Given the description of an element on the screen output the (x, y) to click on. 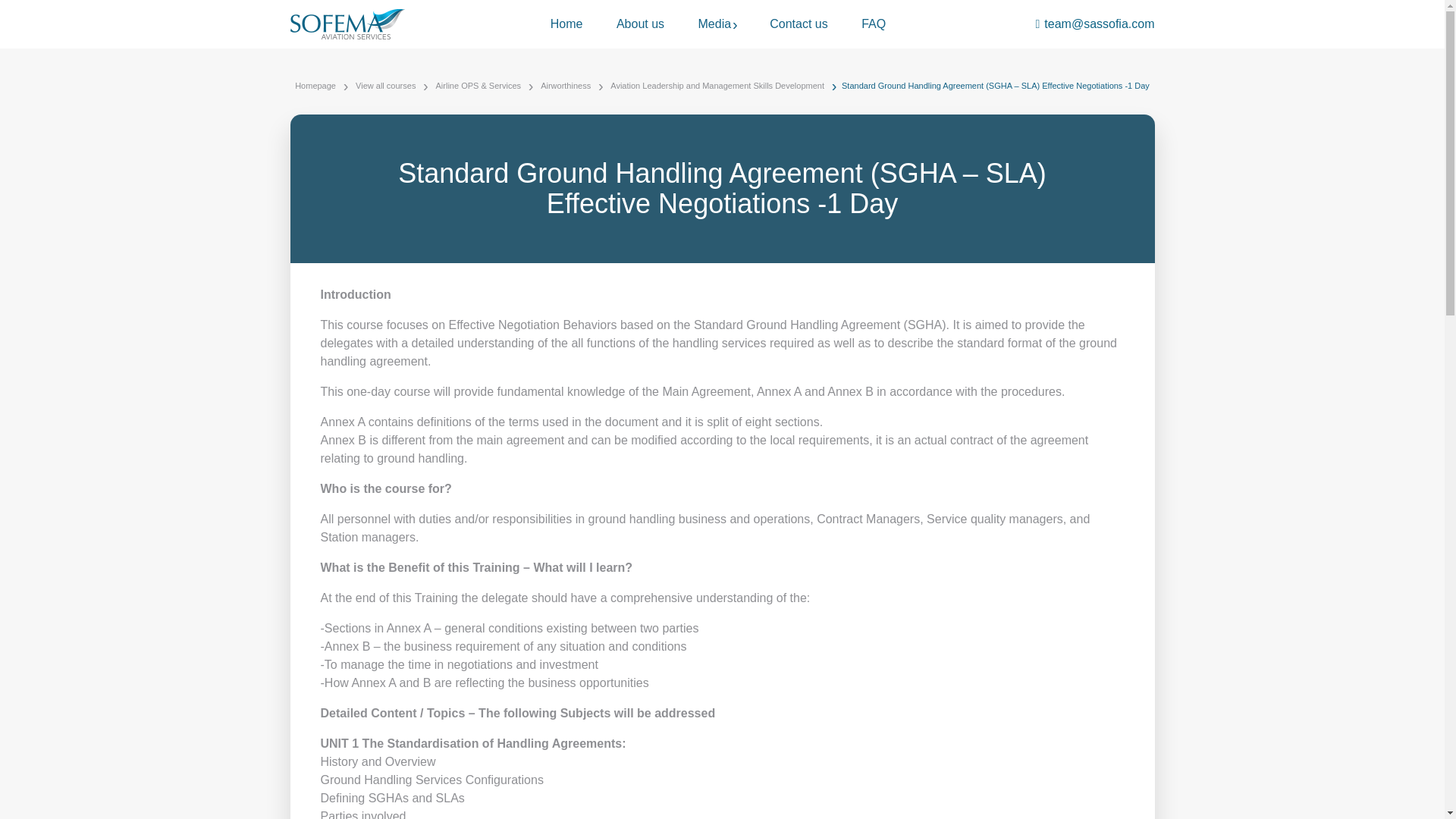
Contact us (798, 24)
Homepage (315, 85)
Airworthiness (565, 85)
Aviation Leadership and Management Skills Development (717, 85)
View all courses (384, 85)
About us (639, 24)
